Given the description of an element on the screen output the (x, y) to click on. 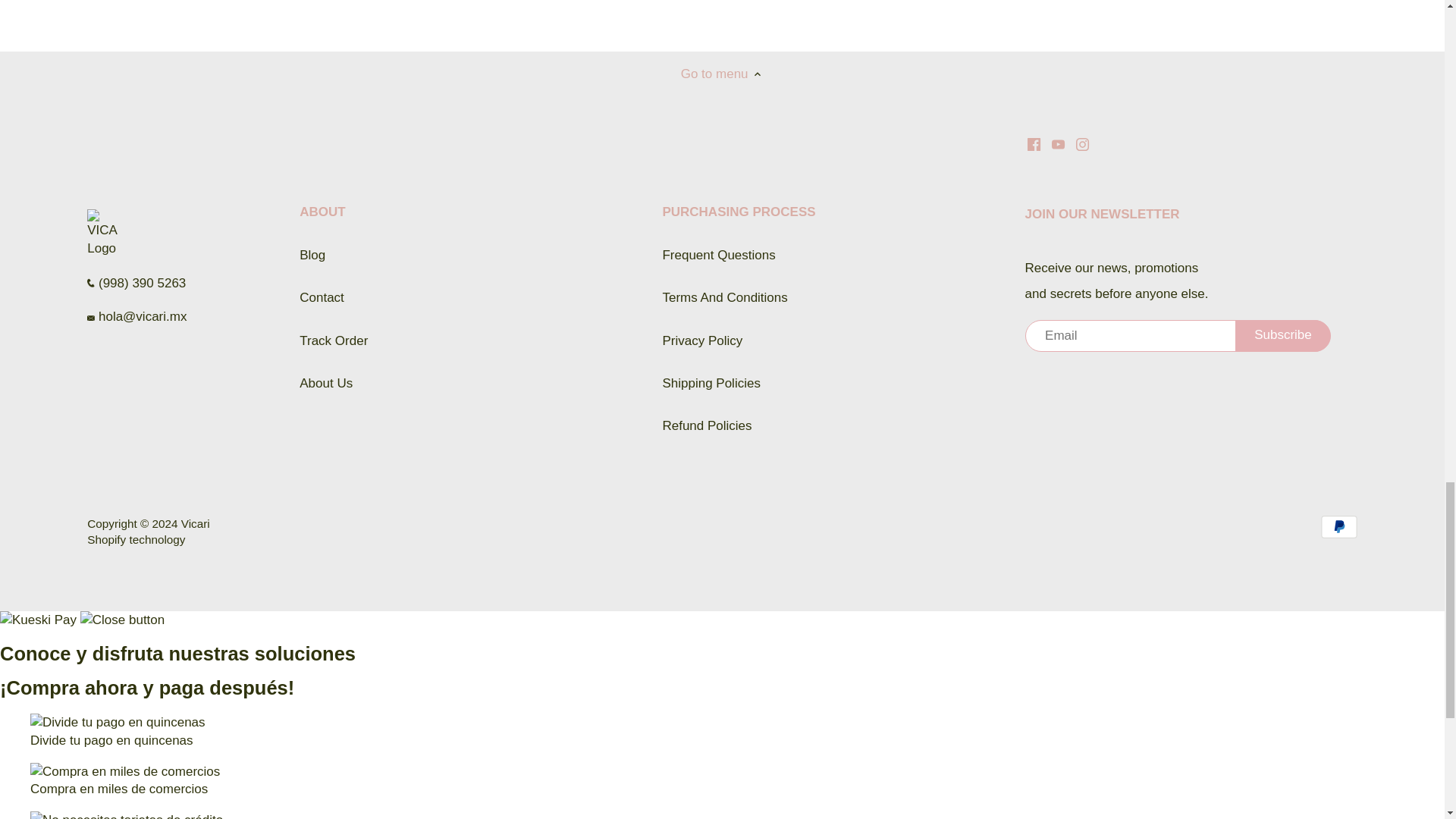
Subscribe (1282, 336)
Youtube (1057, 144)
PayPal (1338, 526)
Instagram (1082, 144)
Facebook (1034, 144)
